Given the description of an element on the screen output the (x, y) to click on. 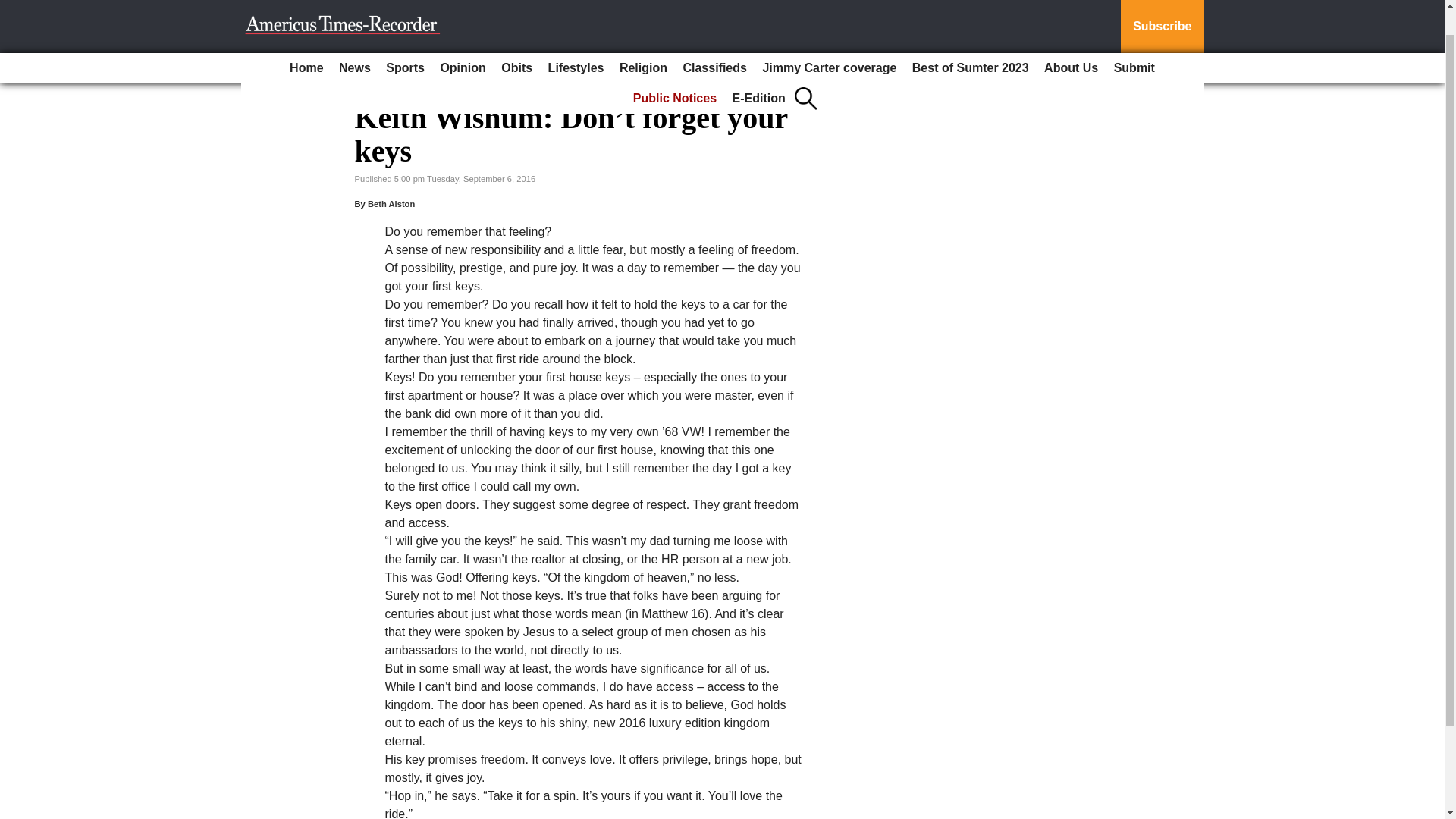
Public Notices (674, 70)
Subscribe (1162, 12)
News (355, 40)
Religion (642, 40)
Submit (1134, 40)
Best of Sumter 2023 (970, 40)
Home (306, 40)
Jimmy Carter coverage (828, 40)
Sports (405, 40)
About Us (1070, 40)
